Given the description of an element on the screen output the (x, y) to click on. 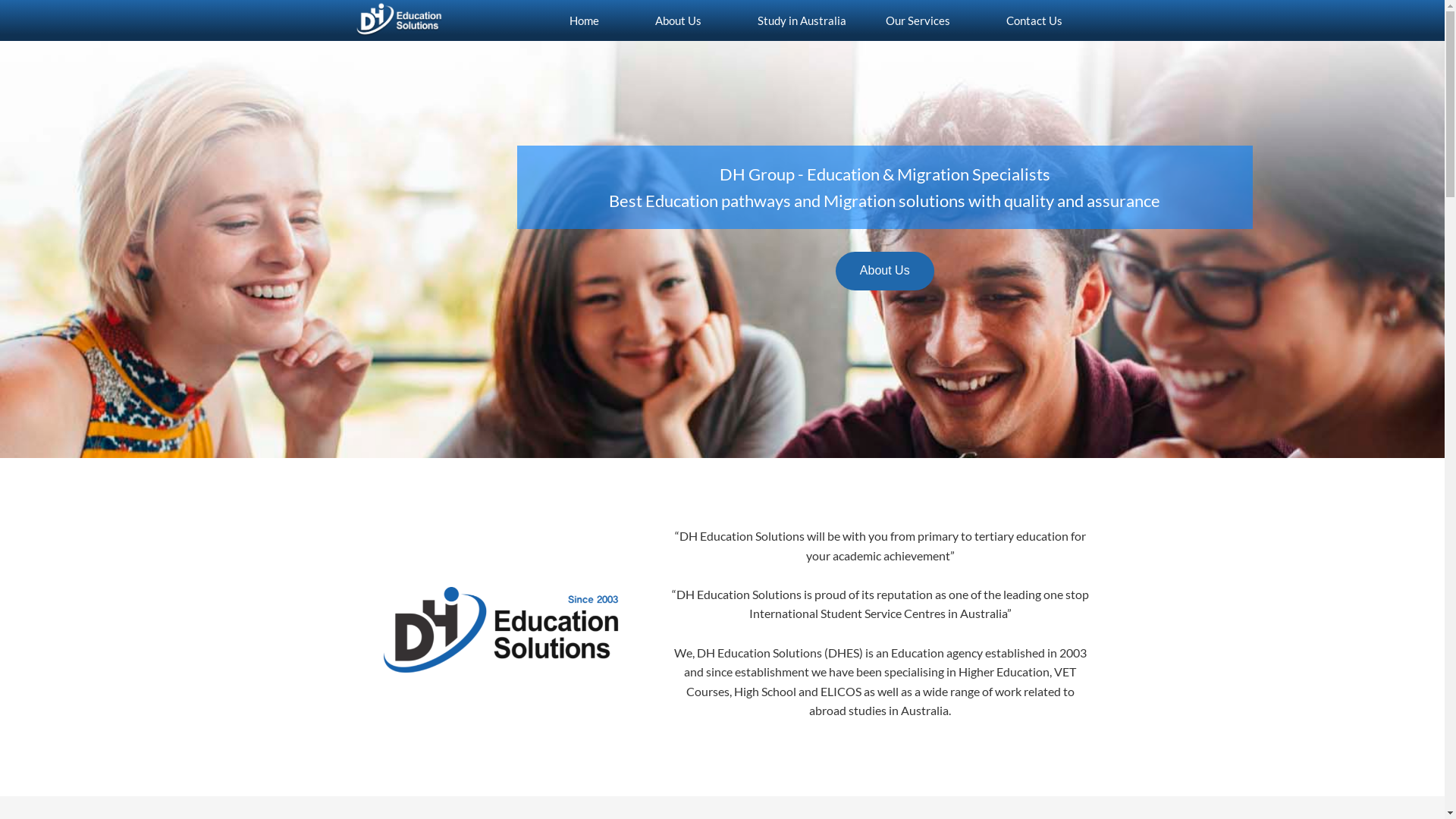
Contact Us Element type: text (1034, 20)
School Education Element type: text (793, 57)
Universities and Higher Education Element type: text (793, 160)
Vocational Education and Training (VET) Element type: text (793, 126)
Our Services Element type: text (916, 20)
About Us Element type: text (884, 270)
English Language Courses Element type: text (793, 92)
About Us Element type: text (677, 20)
Home Element type: text (584, 20)
Study in Australia Element type: text (793, 20)
